Given the description of an element on the screen output the (x, y) to click on. 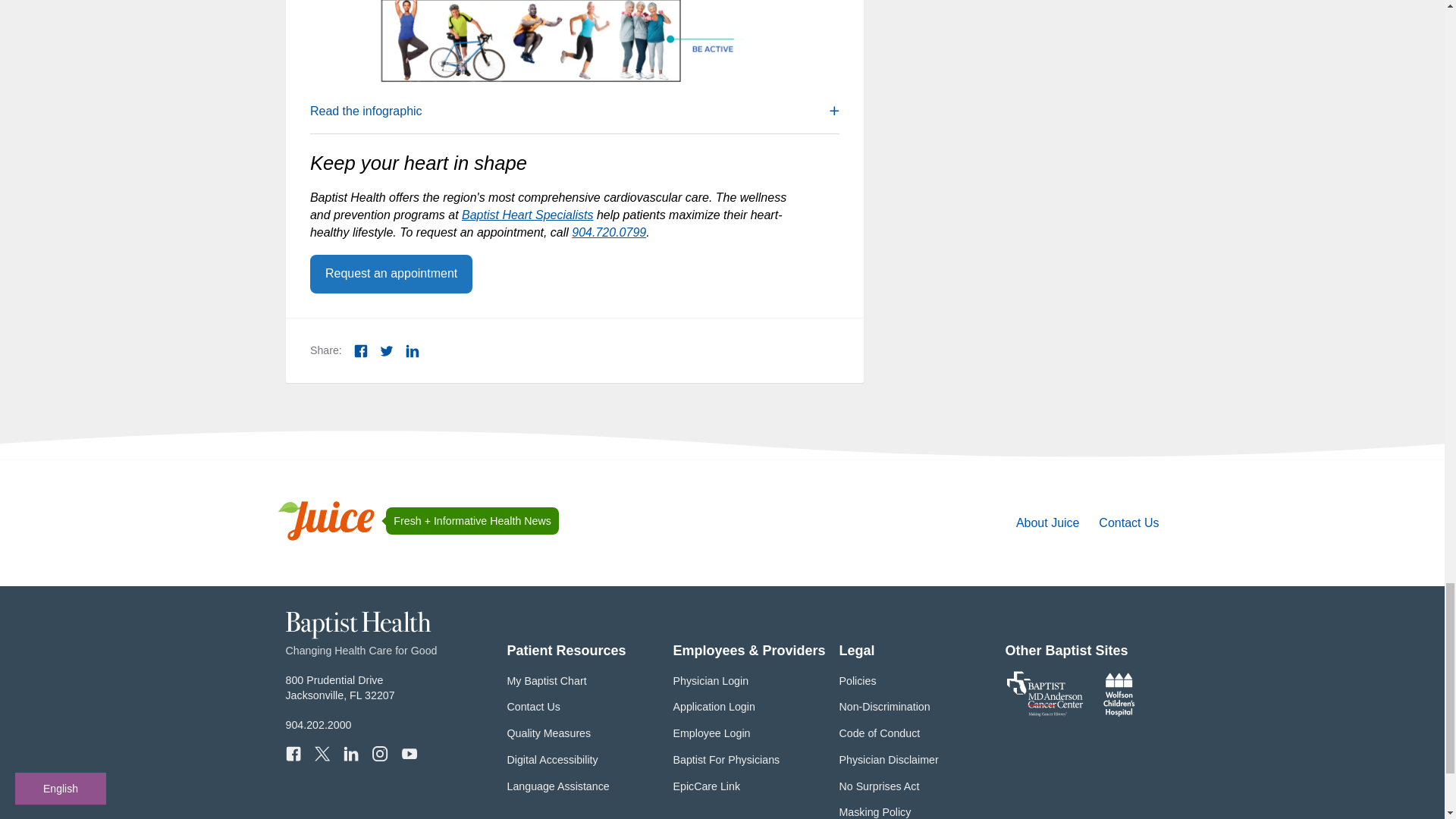
Contact Us (1128, 522)
LinkedIn (412, 350)
904.720.0799 (609, 232)
Instagram (379, 754)
Facebook (339, 687)
About Juice (360, 350)
Baptist Health (1048, 522)
Request an appointment (357, 635)
Twitter (390, 273)
Facebook (322, 754)
Baptist Health (292, 754)
LinkedIn (357, 635)
Get directions to Baptist Health (350, 754)
YouTube (339, 687)
